Given the description of an element on the screen output the (x, y) to click on. 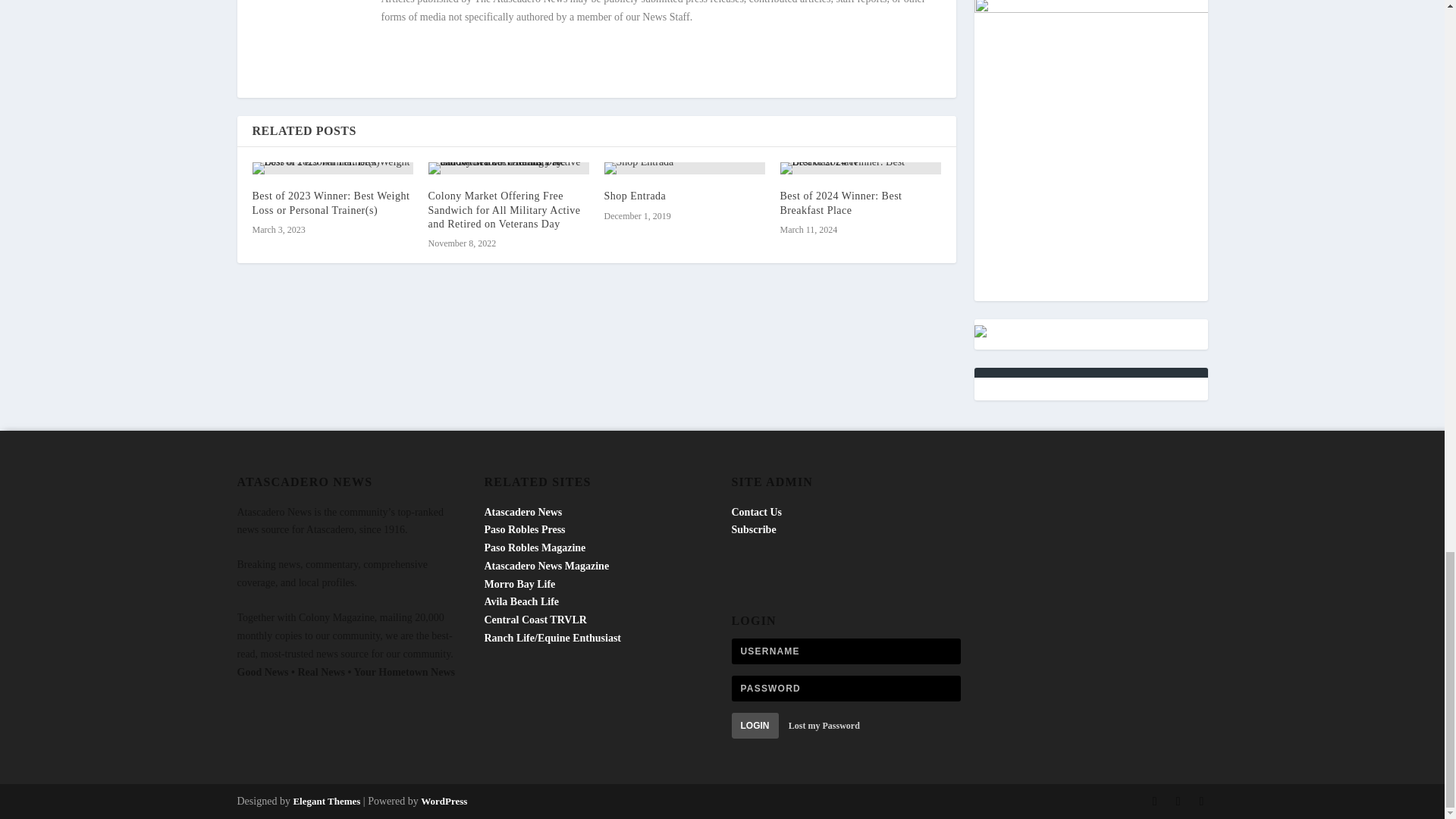
Shop Entrada (684, 168)
Best of 2024 Winner: Best Breakfast Place (839, 202)
Best of 2024 Winner: Best Breakfast Place (859, 168)
Shop Entrada (634, 195)
